Given the description of an element on the screen output the (x, y) to click on. 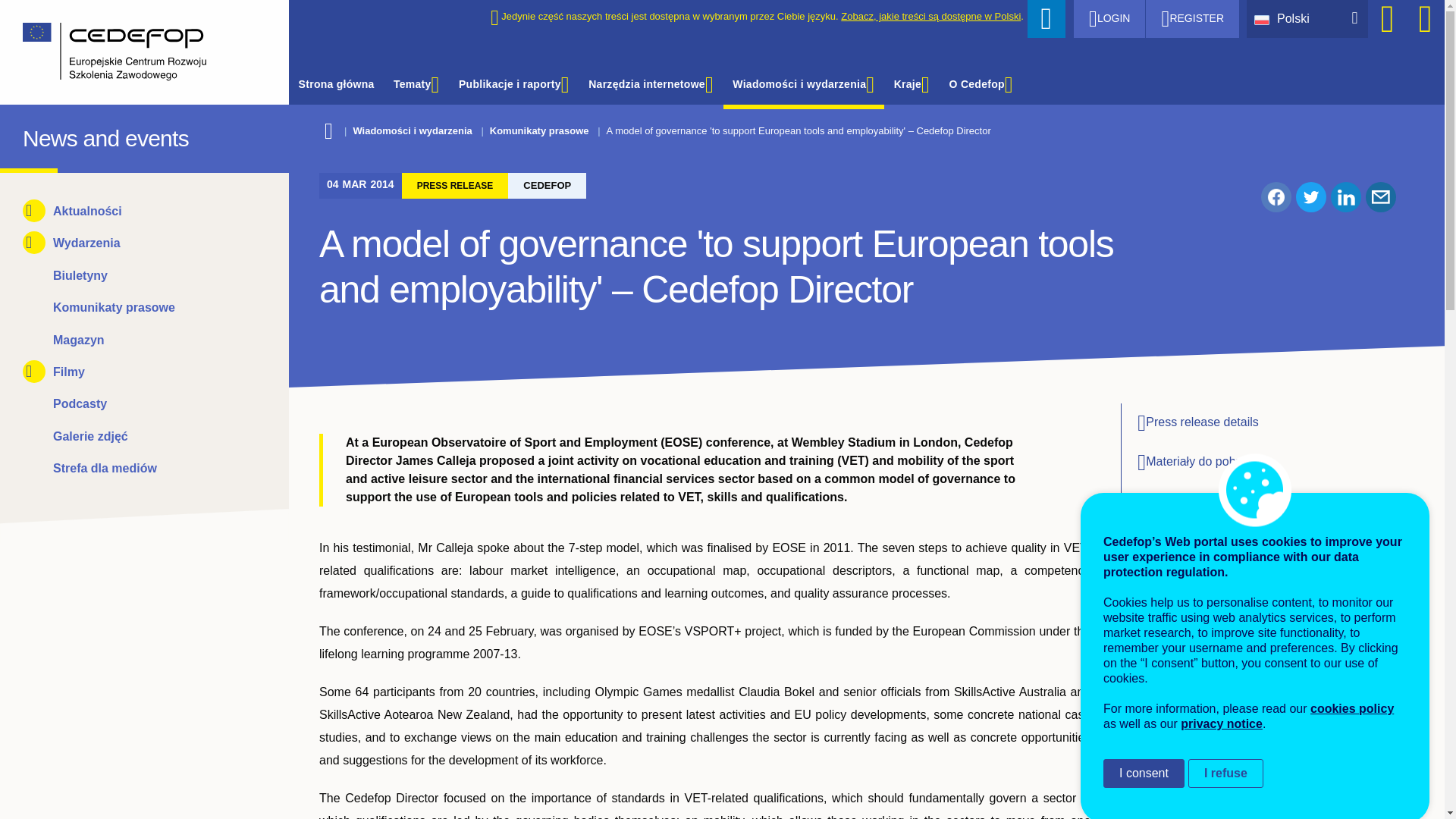
Polish (1265, 18)
Apply (1046, 18)
Home (133, 52)
Home (37, 135)
CEDEFOP (37, 135)
